Given the description of an element on the screen output the (x, y) to click on. 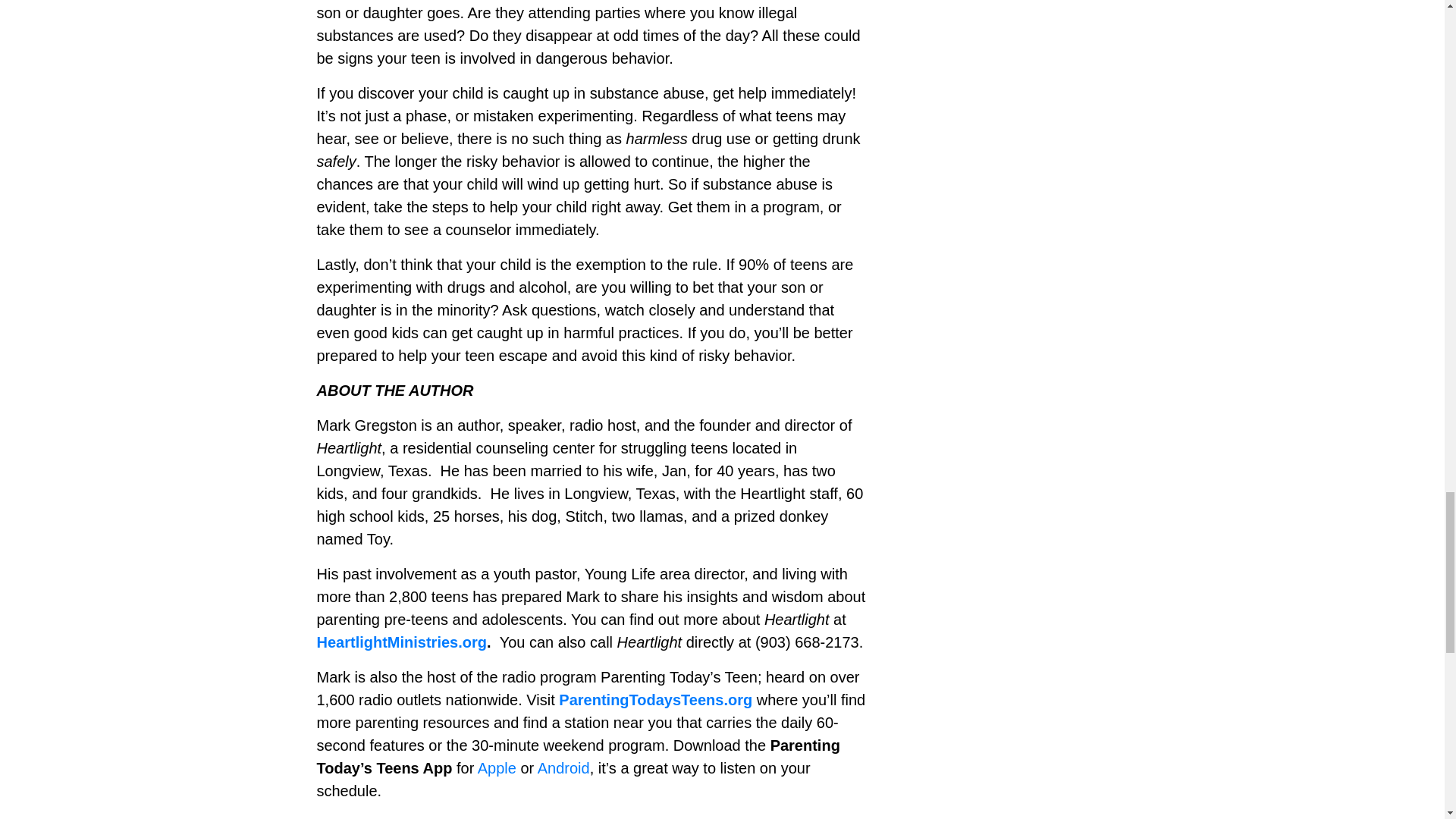
Android (563, 768)
HeartlightMinistries.org (401, 641)
Apple (496, 768)
ParentingTodaysTeens.org (655, 699)
